Given the description of an element on the screen output the (x, y) to click on. 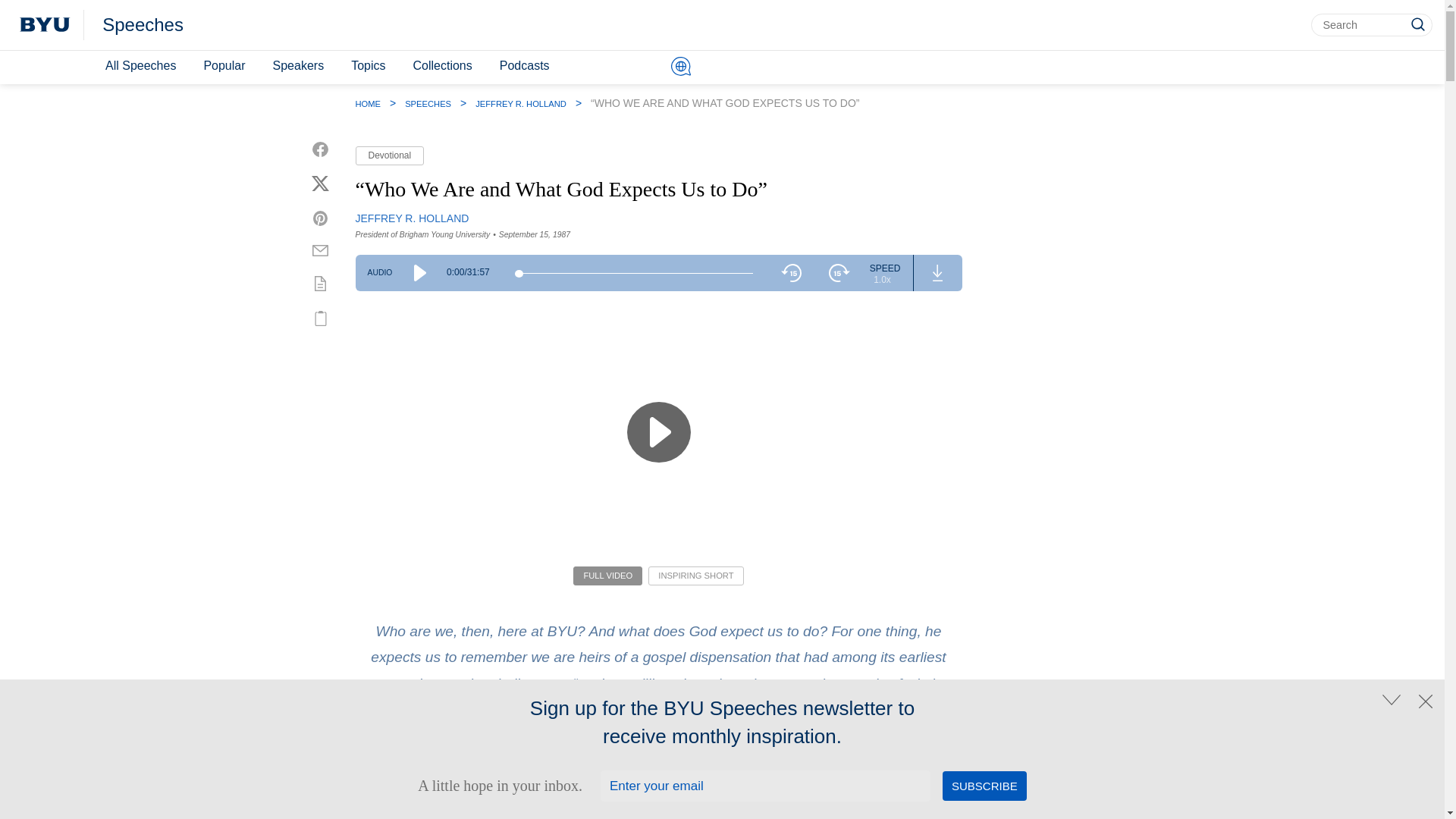
SPEECHES (427, 103)
Topics (368, 65)
HOME (367, 103)
All Speeches (140, 65)
JEFFREY R. HOLLAND (411, 218)
Devotional (389, 155)
Subscribe (984, 785)
Podcasts (524, 65)
Speakers (298, 65)
Collections (441, 65)
Popular (223, 65)
JEFFREY R. HOLLAND (521, 103)
Speeches (142, 25)
